Given the description of an element on the screen output the (x, y) to click on. 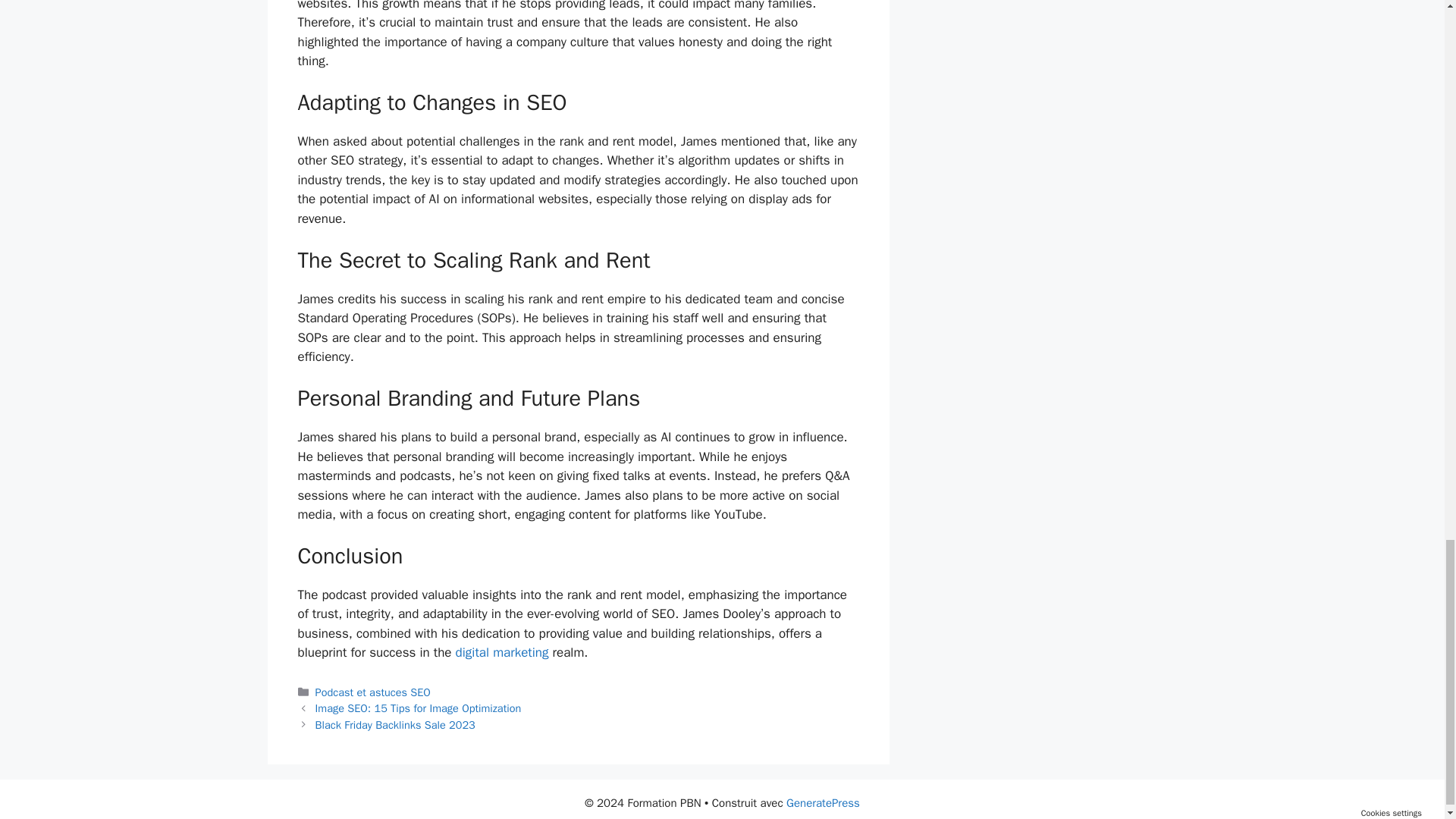
Black Friday Backlinks Sale 2023 (395, 725)
digital marketing (501, 652)
GeneratePress (823, 802)
Suivant (395, 725)
Image SEO: 15 Tips for Image Optimization (418, 707)
Podcast et astuces SEO (372, 692)
